Given the description of an element on the screen output the (x, y) to click on. 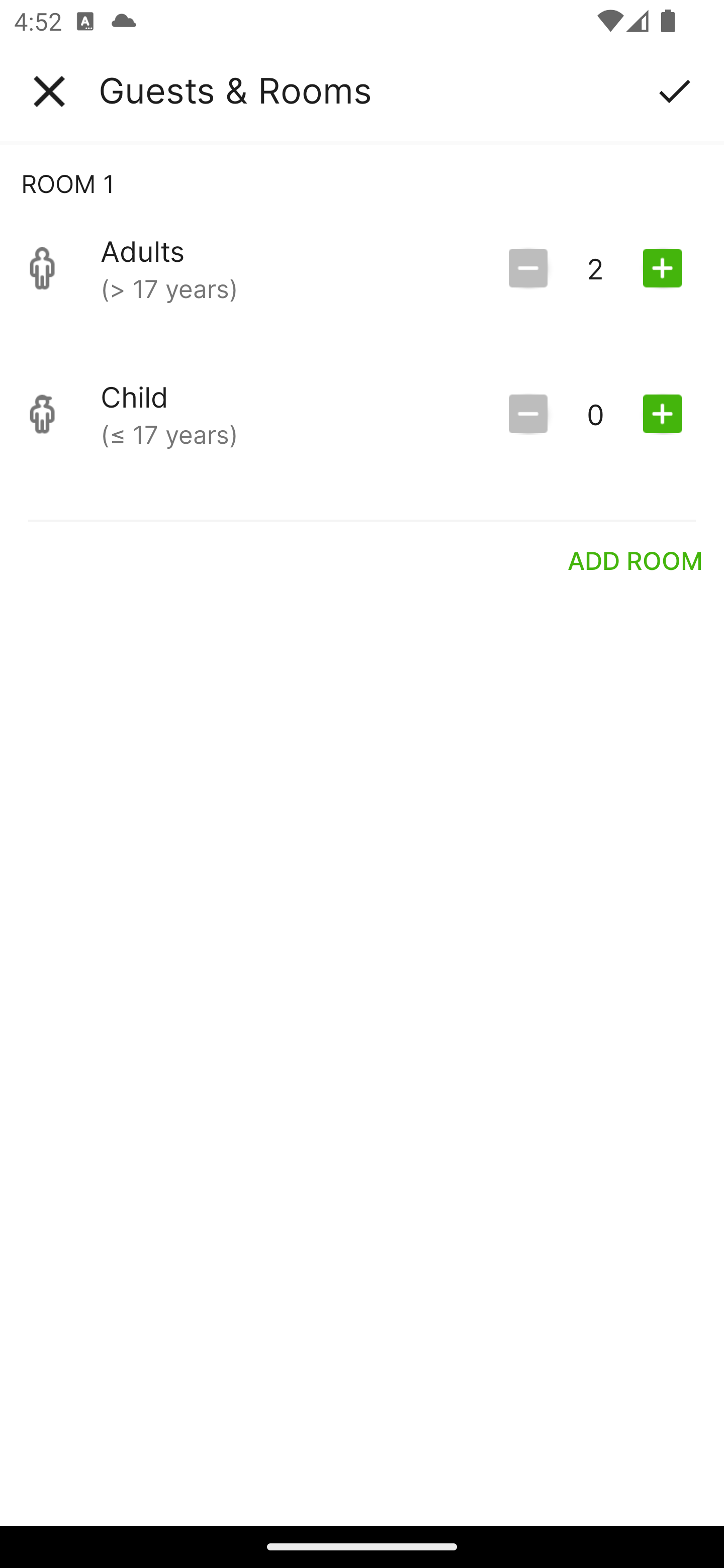
ADD ROOM (635, 560)
